Given the description of an element on the screen output the (x, y) to click on. 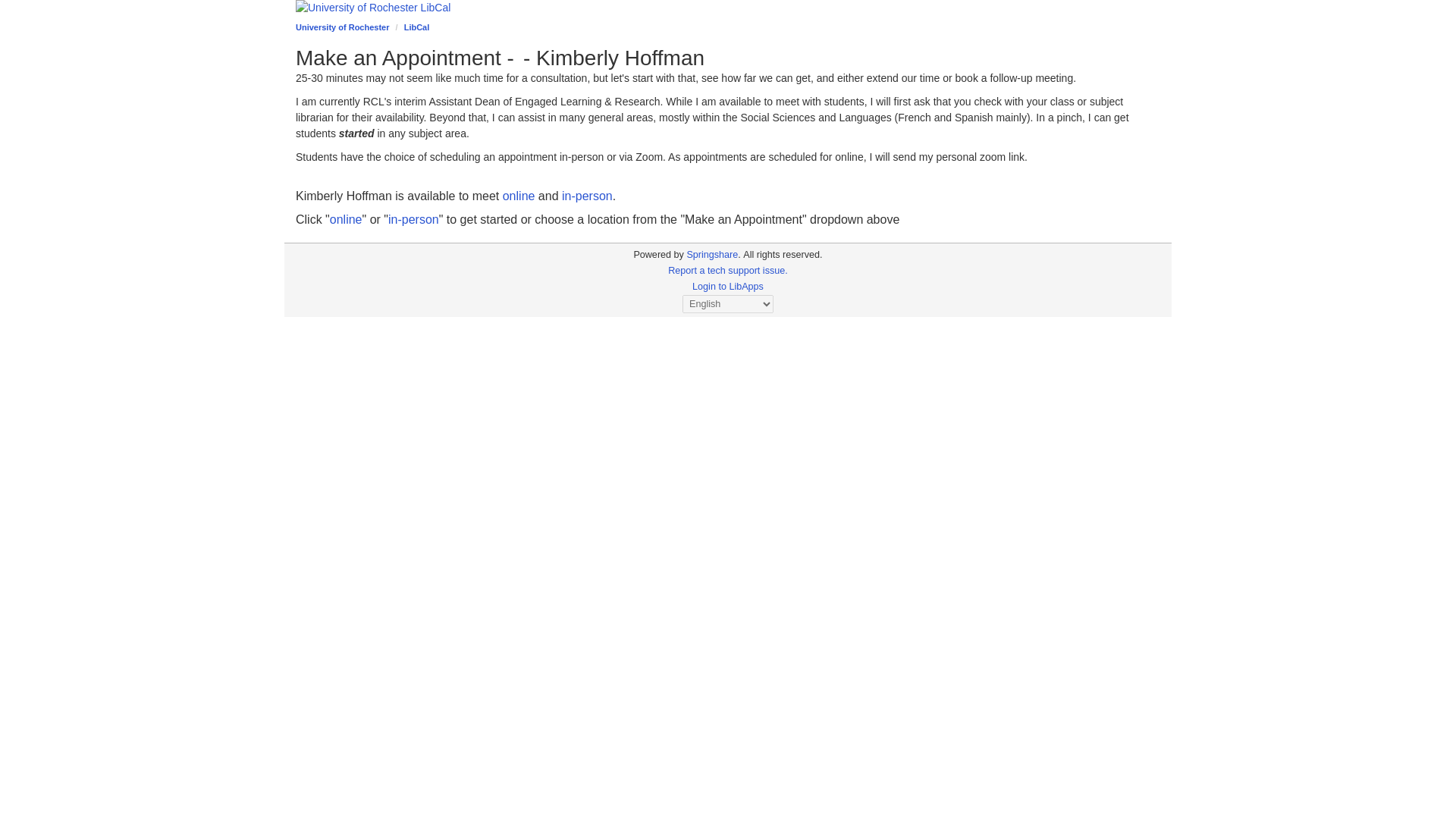
online (518, 195)
Springshare (711, 254)
LibCal (416, 26)
in-person (587, 195)
libcal-us-4 (658, 254)
Login to LibApps (727, 286)
University of Rochester LibCal (727, 7)
University of Rochester (341, 26)
online (346, 219)
Report a tech support issue. (727, 270)
in-person (413, 219)
